Given the description of an element on the screen output the (x, y) to click on. 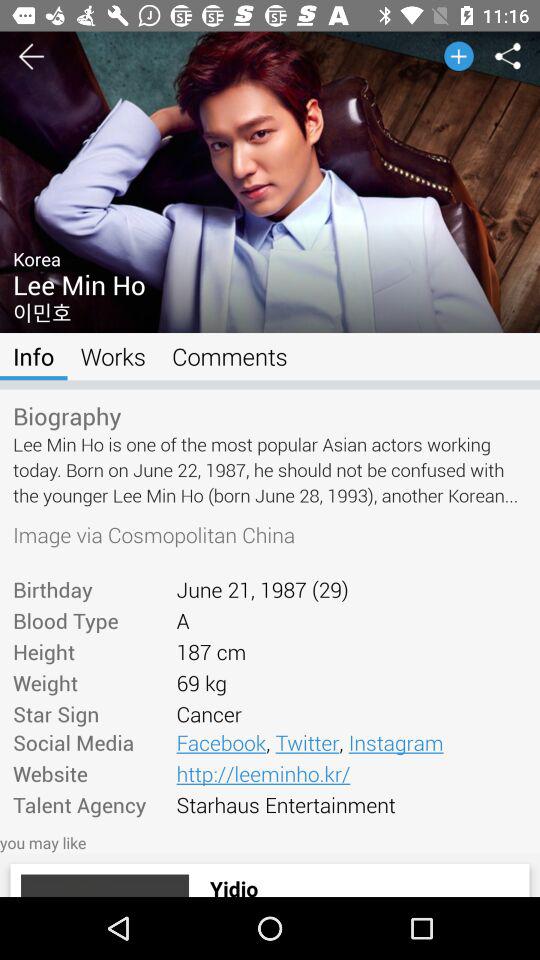
launch the item above the korea (270, 61)
